Given the description of an element on the screen output the (x, y) to click on. 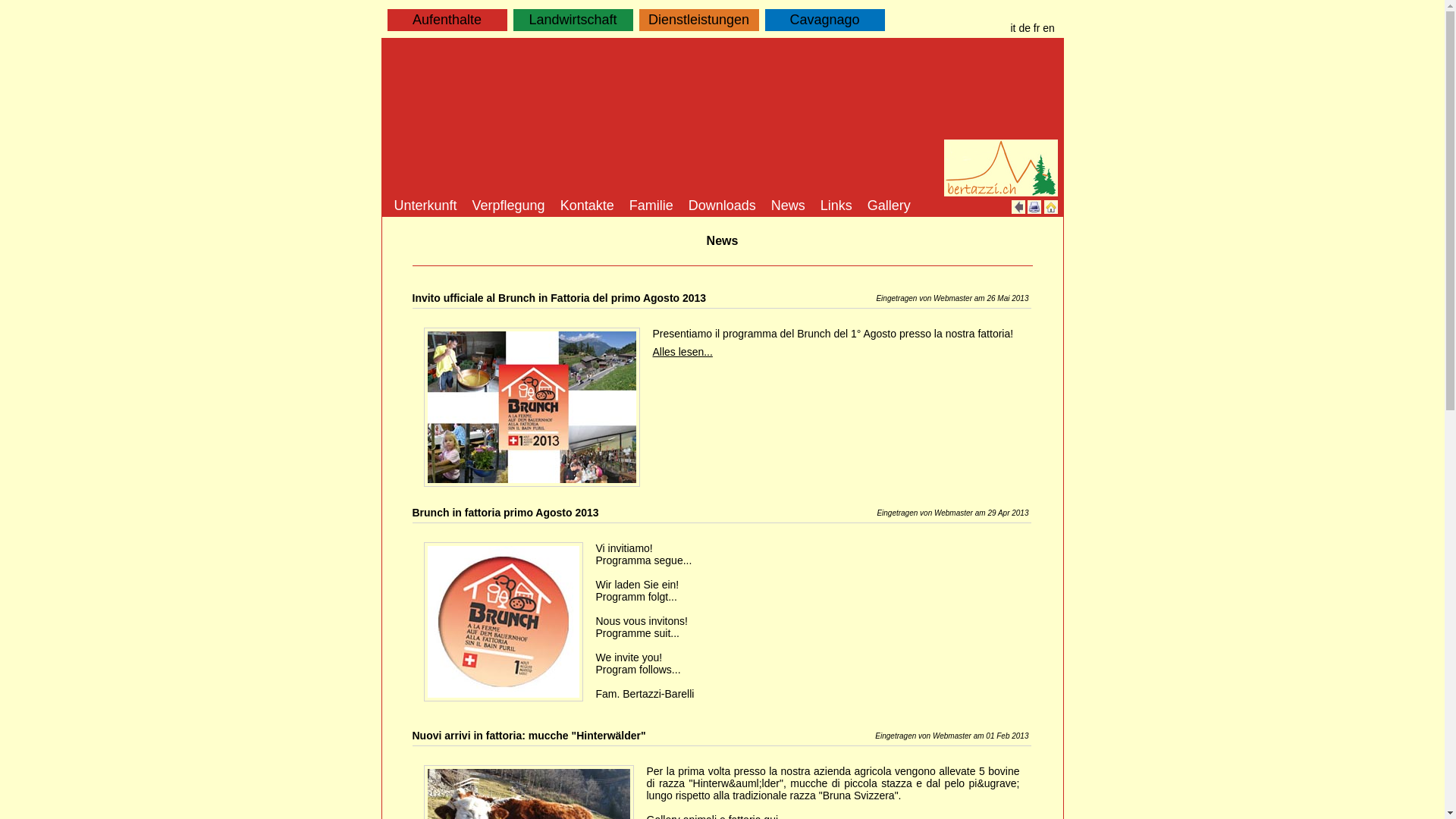
Drucken Element type: hover (1034, 206)
Kontakte Element type: text (586, 206)
Landwirtschaft Element type: text (572, 19)
Aufenthalte Element type: text (446, 19)
Dienstleistungen Element type: text (698, 19)
en Element type: text (1048, 27)
Alles lesen... Element type: text (682, 351)
Unterkunft Element type: text (425, 206)
Cavagnago Element type: text (824, 19)
it Element type: text (1012, 27)
News Element type: text (787, 206)
Startseite Element type: hover (1050, 206)
Downloads Element type: text (721, 206)
Links Element type: text (835, 206)
fr Element type: text (1036, 27)
Familie Element type: text (650, 206)
Verpflegung Element type: text (508, 206)
Gallery Element type: text (888, 206)
